Given the description of an element on the screen output the (x, y) to click on. 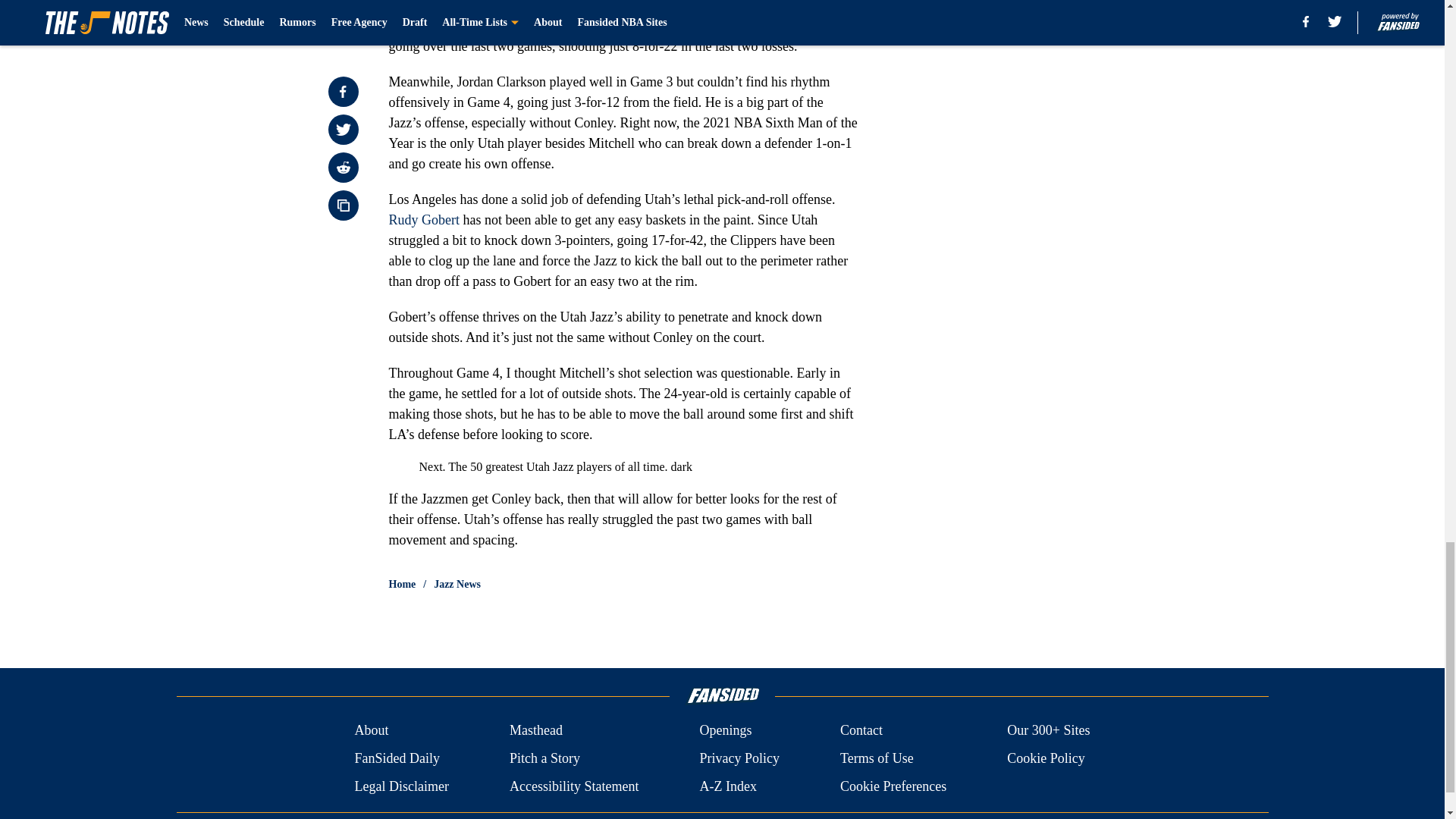
Home (401, 584)
Openings (724, 730)
Jazz News (456, 584)
Contact (861, 730)
FanSided Daily (396, 758)
About (370, 730)
Pitch a Story (544, 758)
Privacy Policy (738, 758)
Rudy Gobert (424, 219)
Masthead (535, 730)
Cookie Policy (1045, 758)
Terms of Use (877, 758)
